Given the description of an element on the screen output the (x, y) to click on. 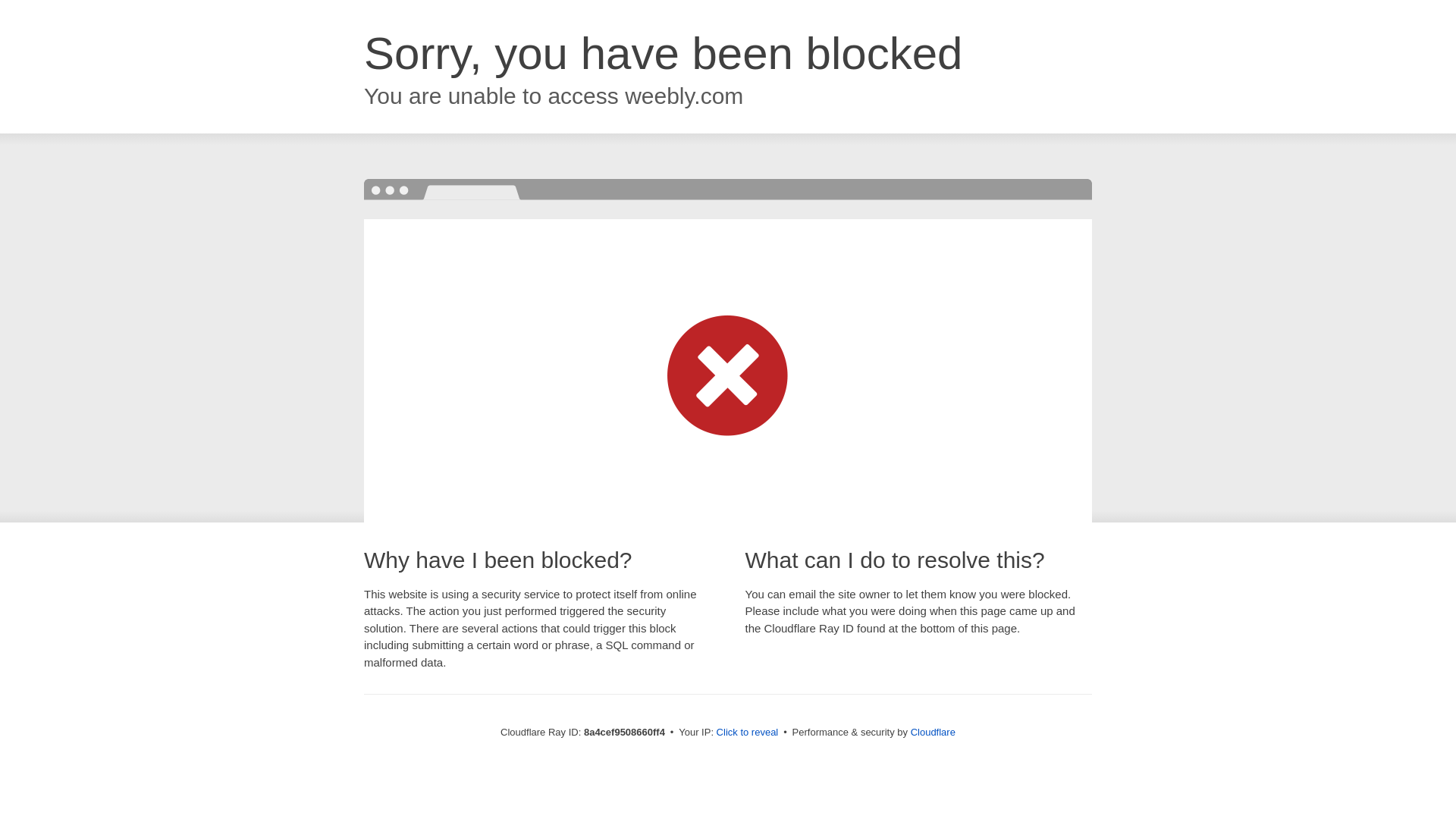
Click to reveal (747, 732)
Cloudflare (933, 731)
